Given the description of an element on the screen output the (x, y) to click on. 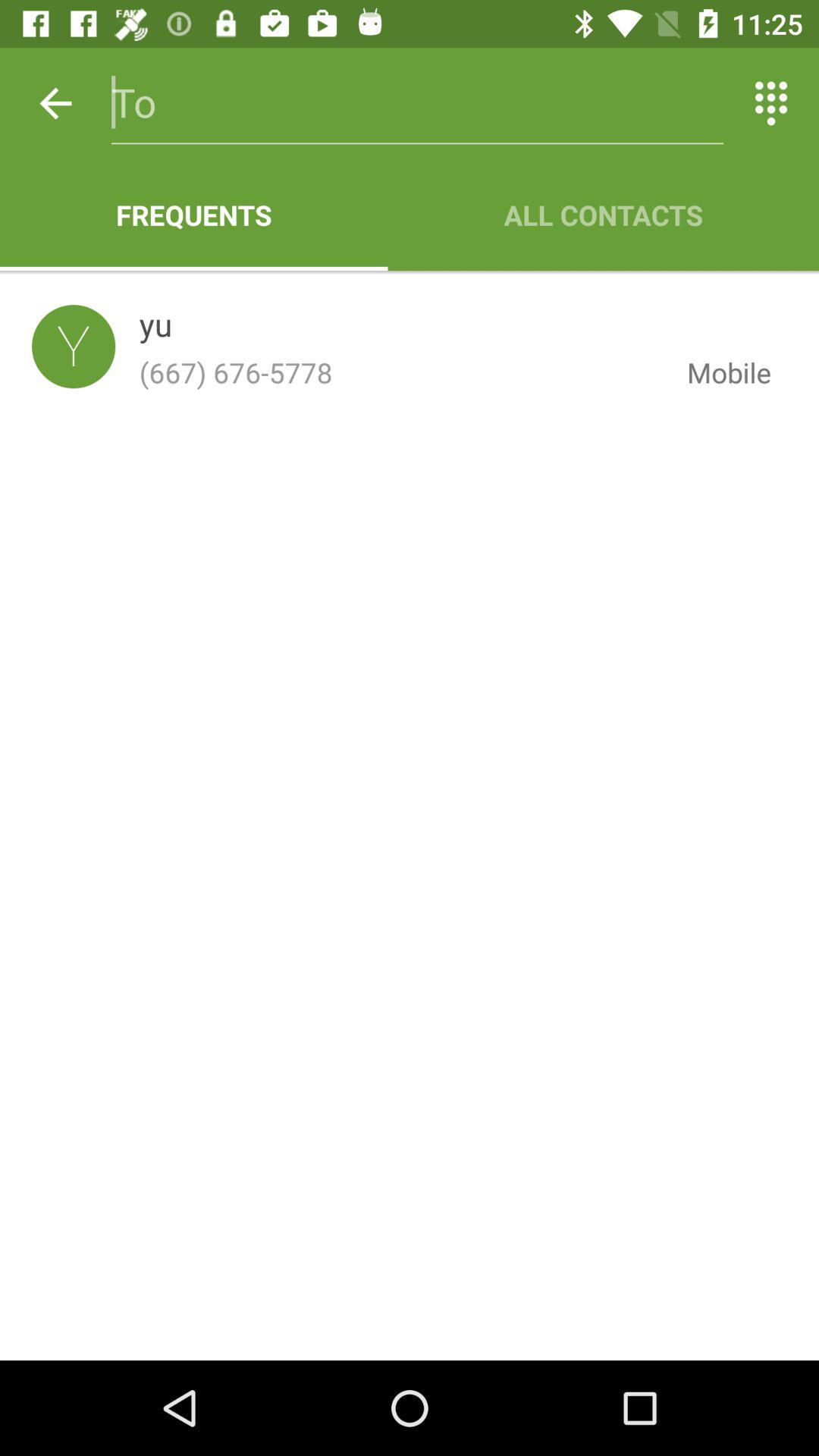
open the icon to the left of the yu (73, 346)
